Given the description of an element on the screen output the (x, y) to click on. 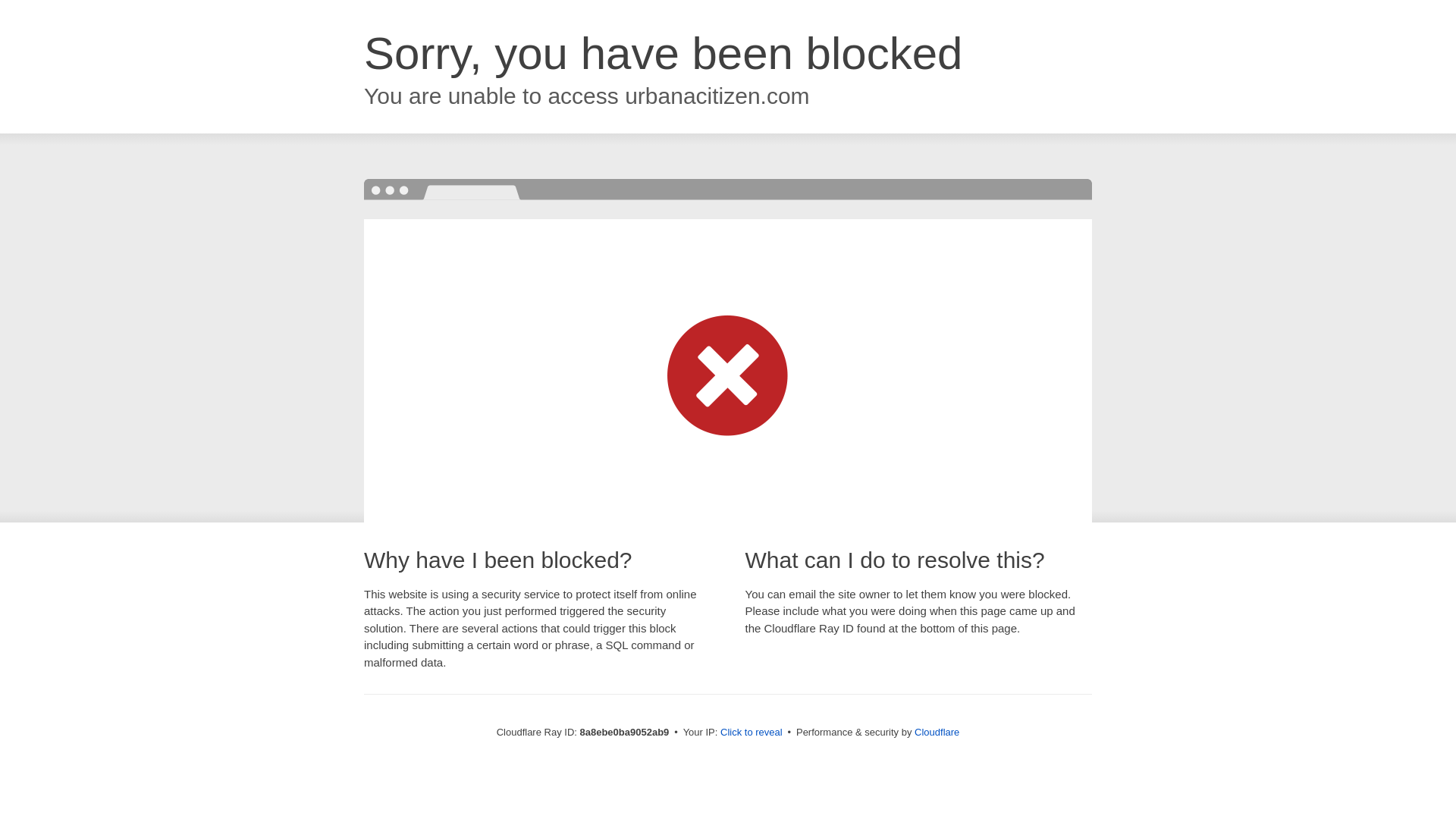
Cloudflare (936, 731)
Click to reveal (751, 732)
